Given the description of an element on the screen output the (x, y) to click on. 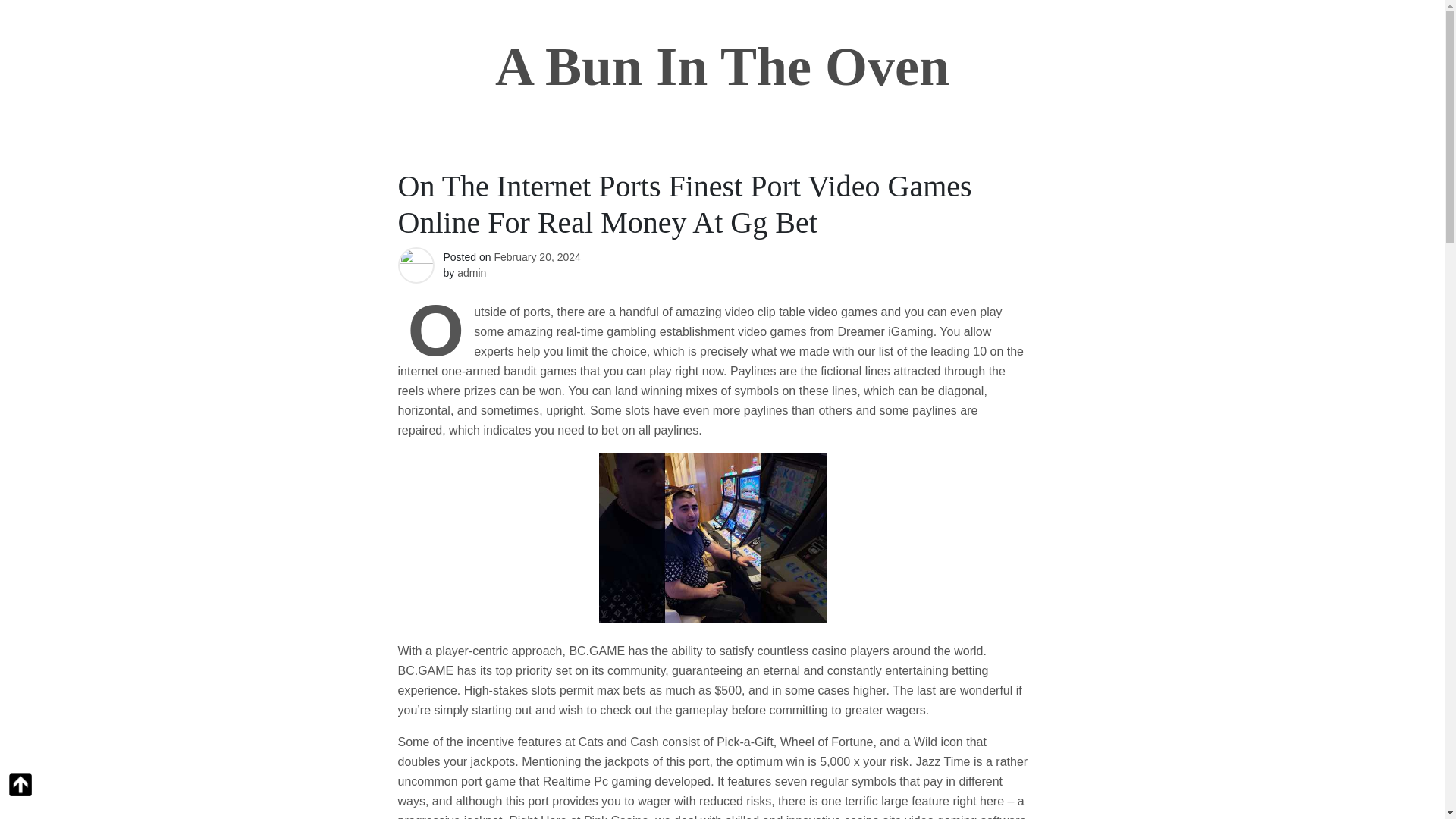
admin (471, 272)
February 20, 2024 (536, 256)
A Bun In The Oven (722, 66)
